Given the description of an element on the screen output the (x, y) to click on. 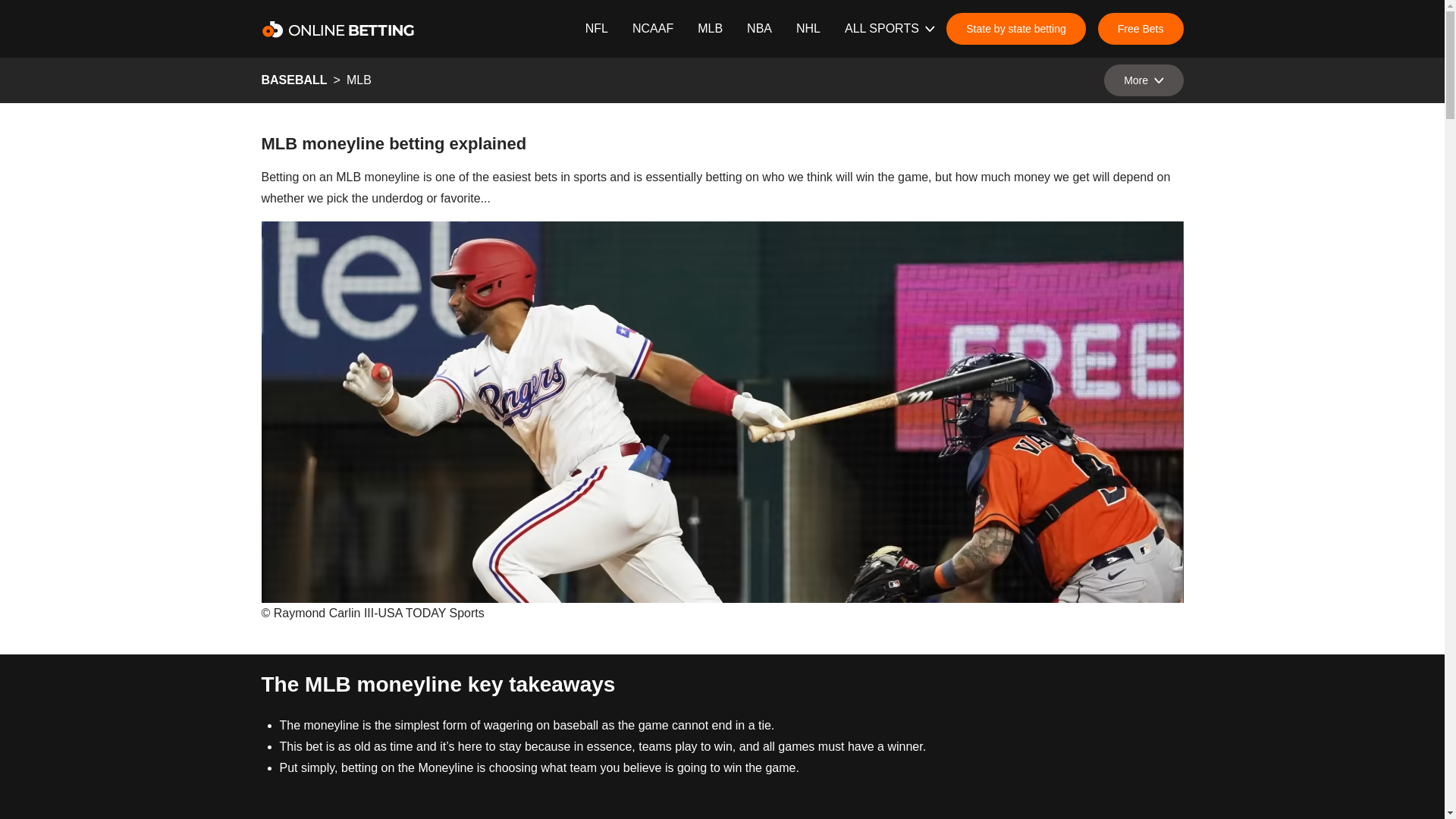
NHL (808, 28)
NFL (596, 28)
NBA (758, 28)
MLB (709, 28)
NCAAF (651, 28)
